Given the description of an element on the screen output the (x, y) to click on. 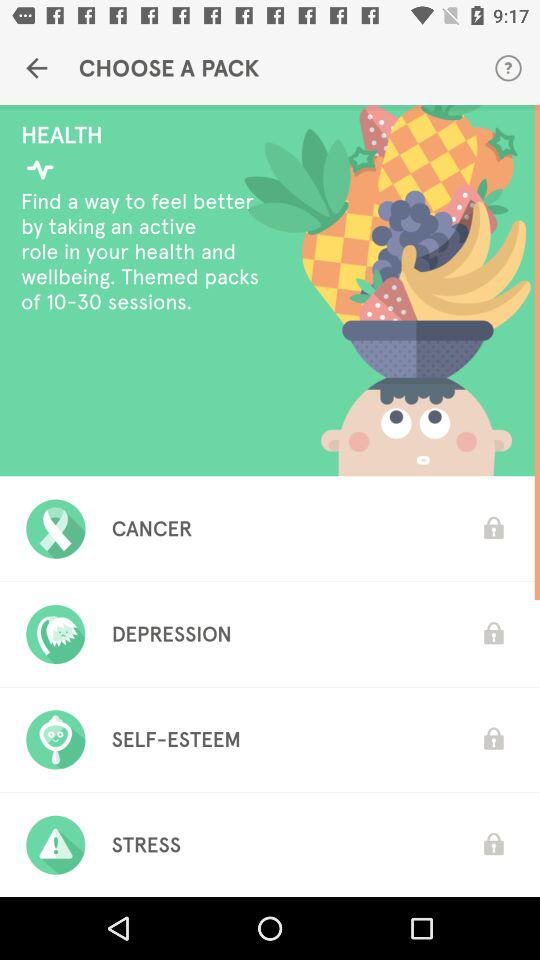
choose depression (171, 634)
